Given the description of an element on the screen output the (x, y) to click on. 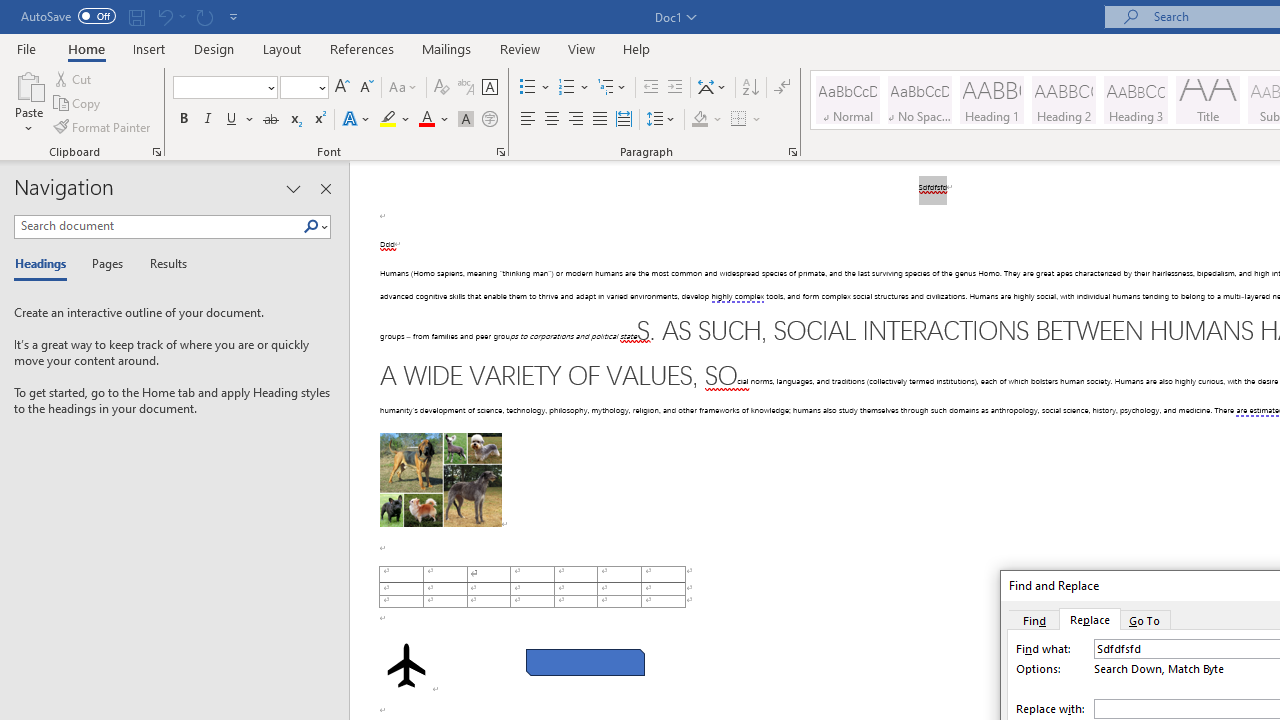
Character Border (489, 87)
Increase Indent (675, 87)
Help (637, 48)
Distributed (623, 119)
AutoSave (68, 16)
Enclose Characters... (489, 119)
Mailings (447, 48)
Close pane (325, 188)
Heading 3 (1135, 100)
Phonetic Guide... (465, 87)
Class: NetUIImage (311, 226)
